Given the description of an element on the screen output the (x, y) to click on. 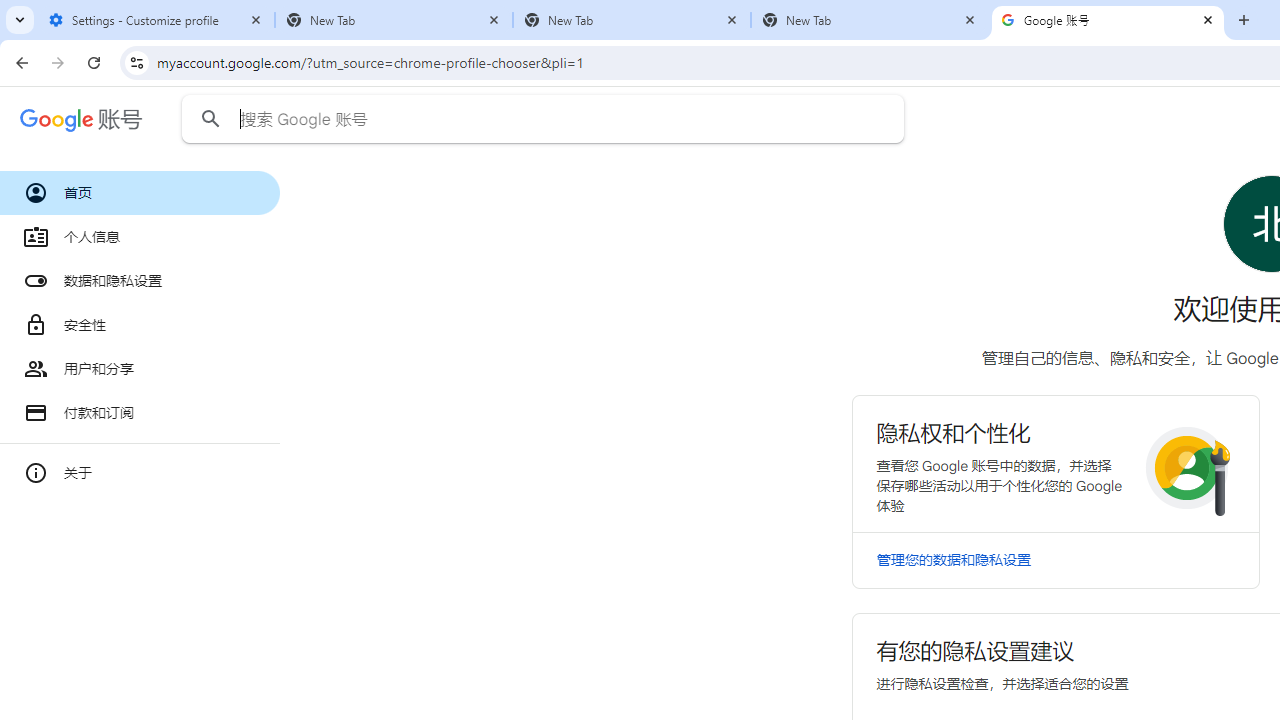
Settings - Customize profile (156, 20)
